Given the description of an element on the screen output the (x, y) to click on. 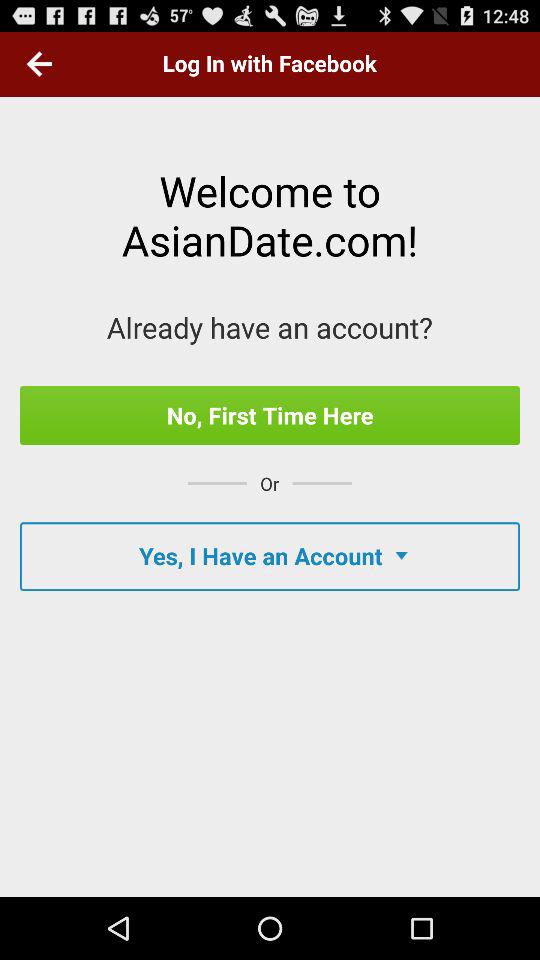
open the no first time button (269, 415)
